Given the description of an element on the screen output the (x, y) to click on. 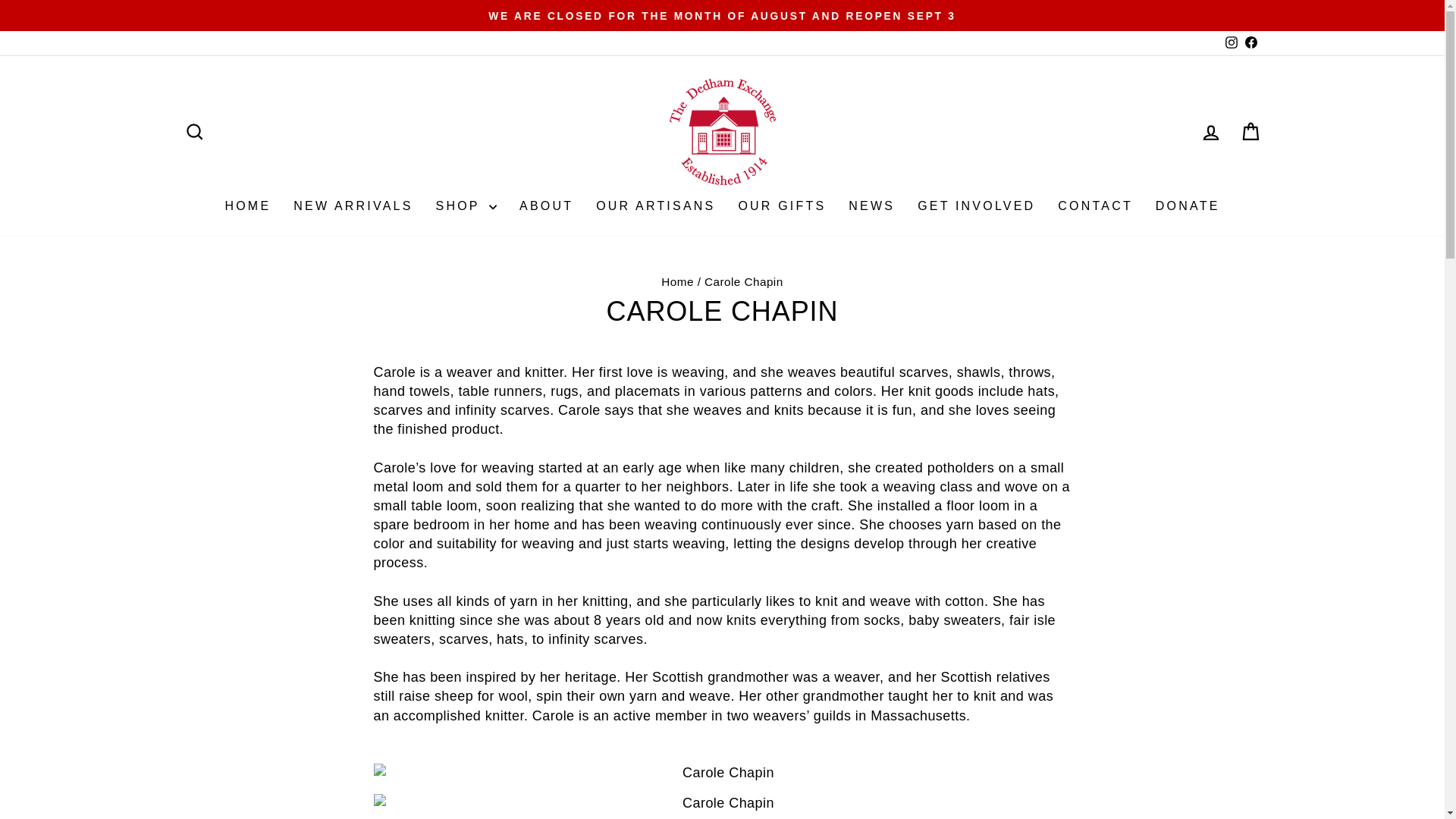
instagram (1231, 42)
ICON-SEARCH (194, 131)
ACCOUNT (1210, 132)
Back to the frontpage (677, 281)
